Given the description of an element on the screen output the (x, y) to click on. 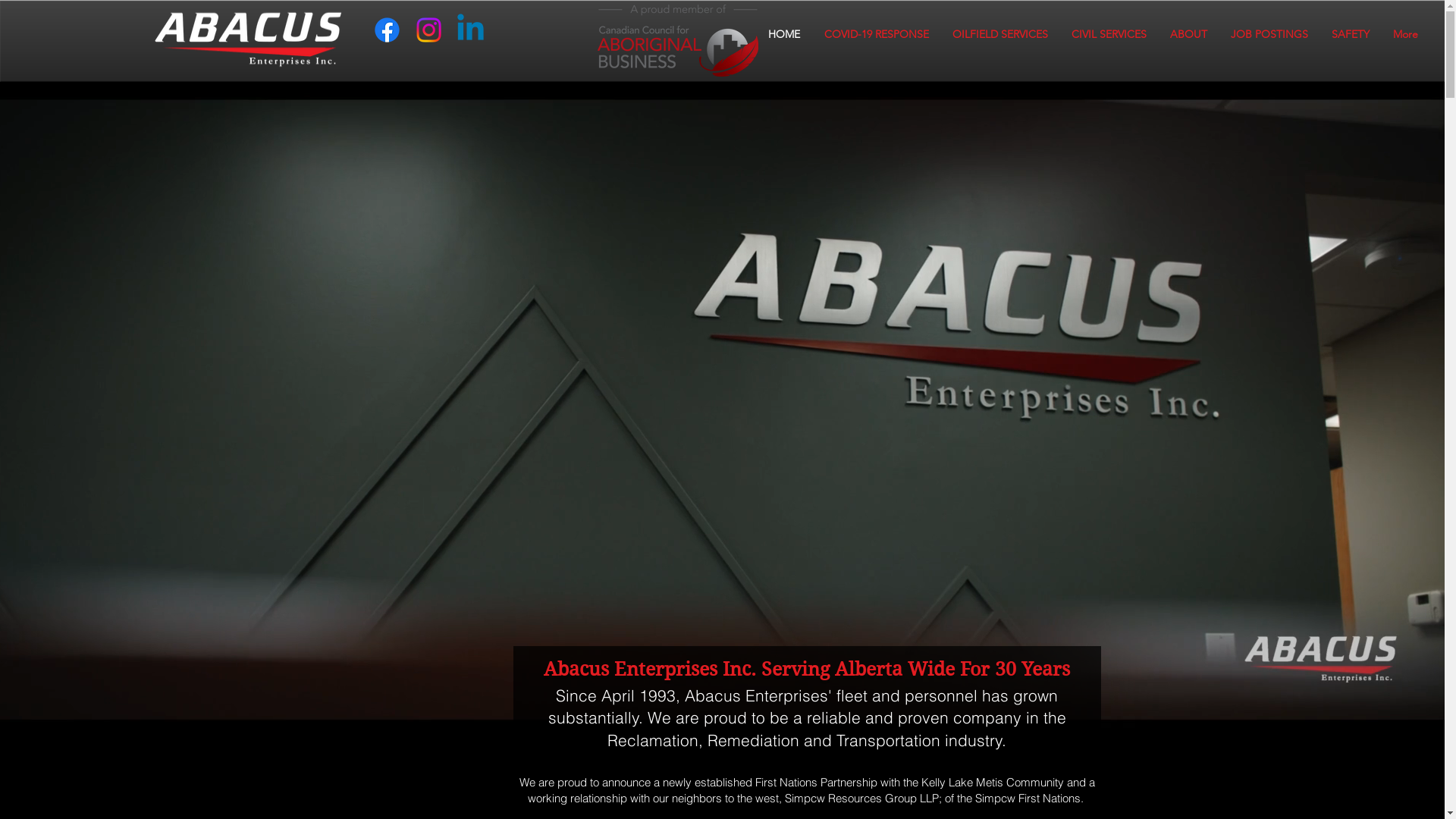
SAFETY Element type: text (1349, 34)
COVID-19 RESPONSE Element type: text (876, 34)
HOME Element type: text (784, 34)
ABOUT Element type: text (1187, 34)
CIVIL SERVICES Element type: text (1108, 34)
JOB POSTINGS Element type: text (1268, 34)
OILFIELD SERVICES Element type: text (999, 34)
